Given the description of an element on the screen output the (x, y) to click on. 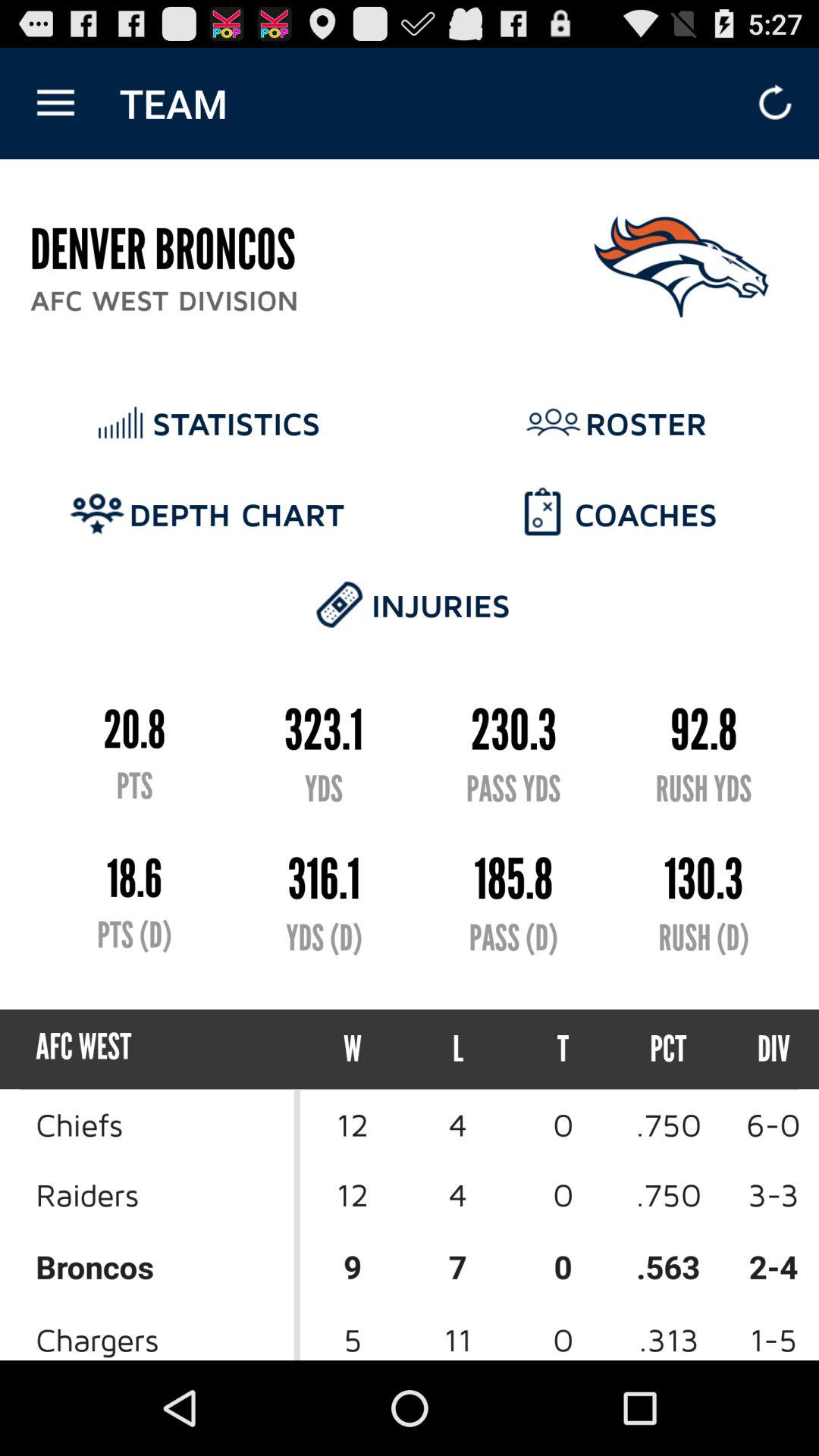
open the item above the denver broncos item (55, 103)
